Given the description of an element on the screen output the (x, y) to click on. 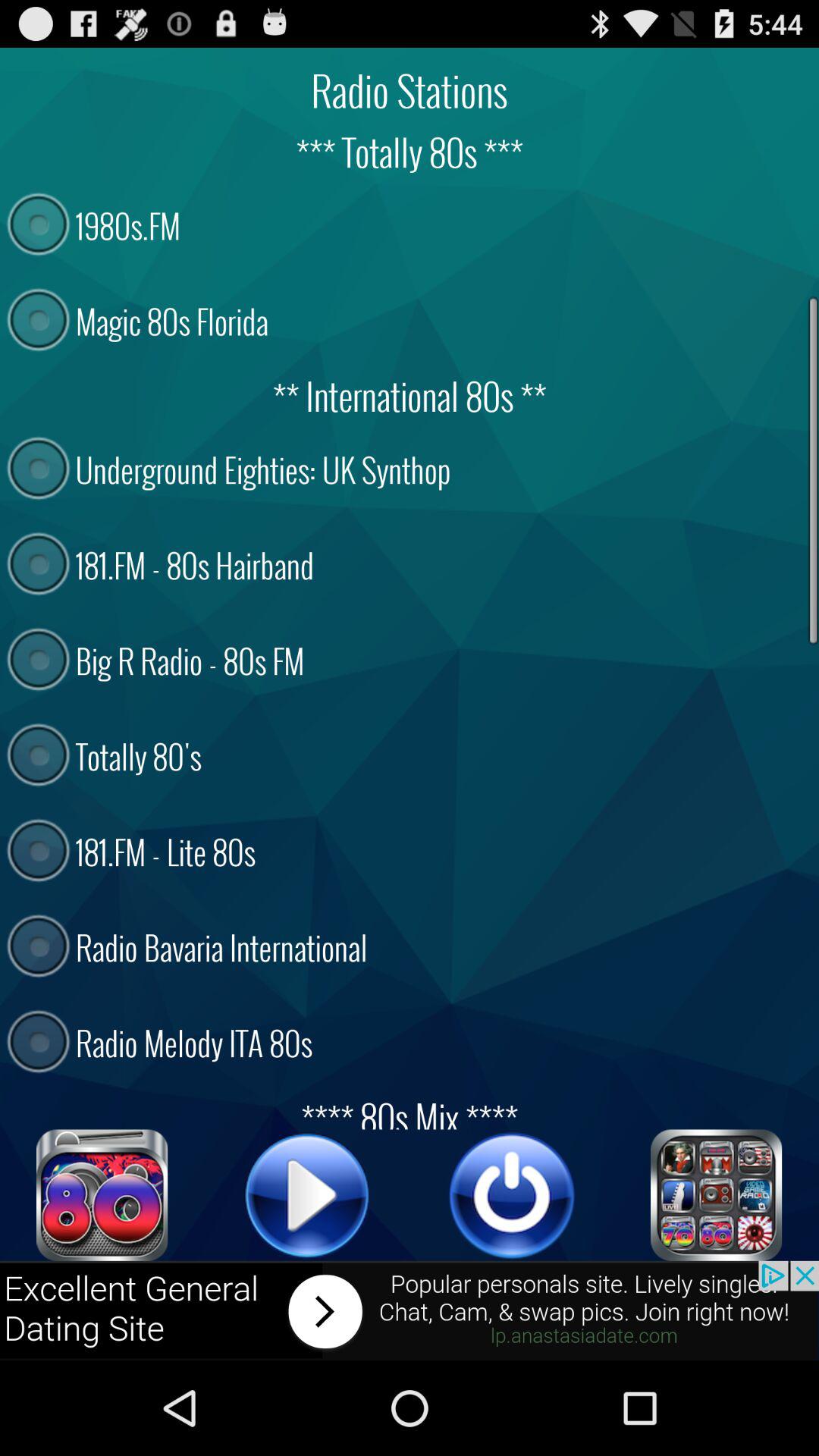
view advertisement (409, 1310)
